Given the description of an element on the screen output the (x, y) to click on. 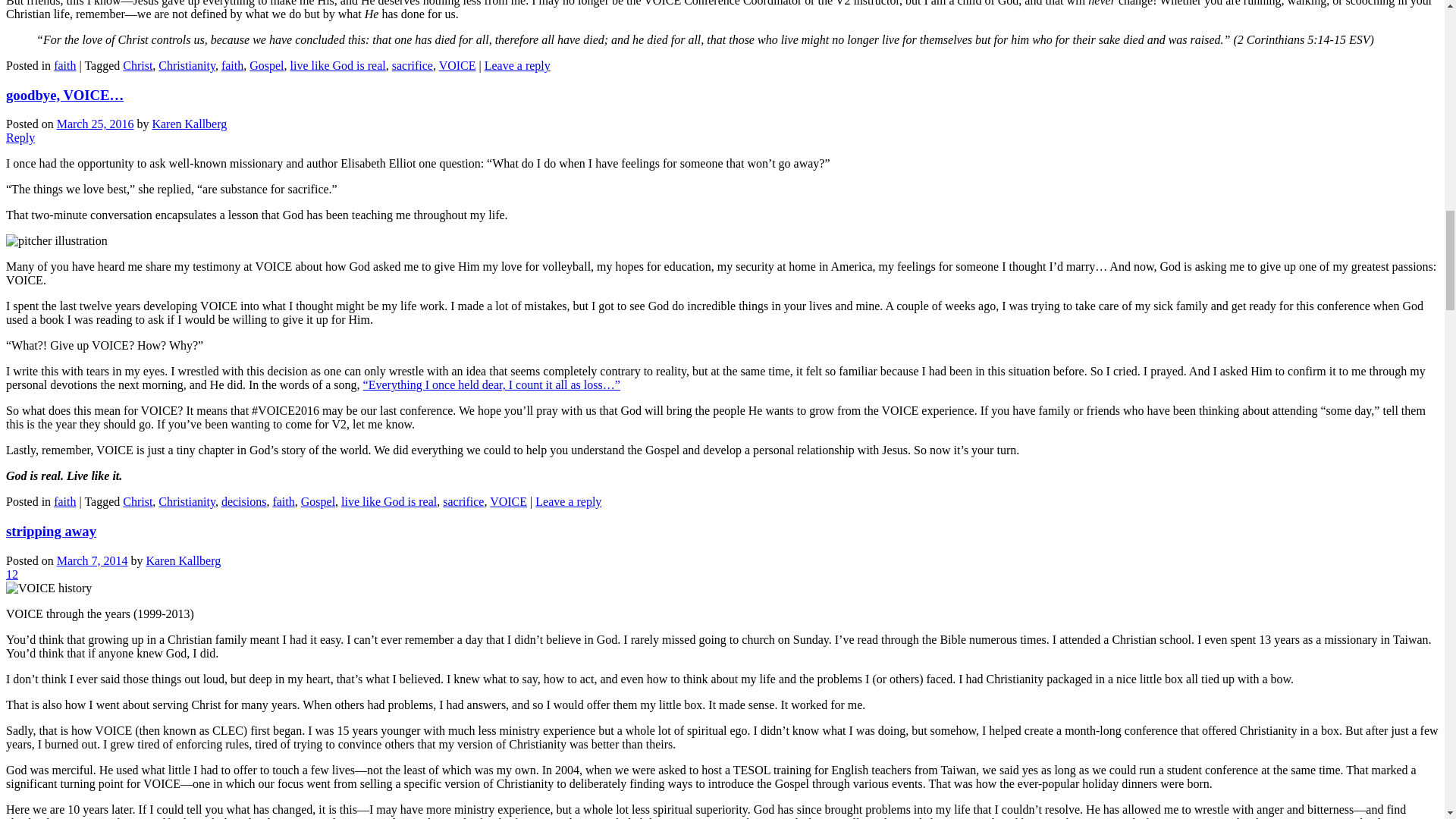
View all posts by Karen Kallberg (183, 560)
5:40 am (92, 560)
View all posts by Karen Kallberg (189, 123)
10:05 pm (94, 123)
